Given the description of an element on the screen output the (x, y) to click on. 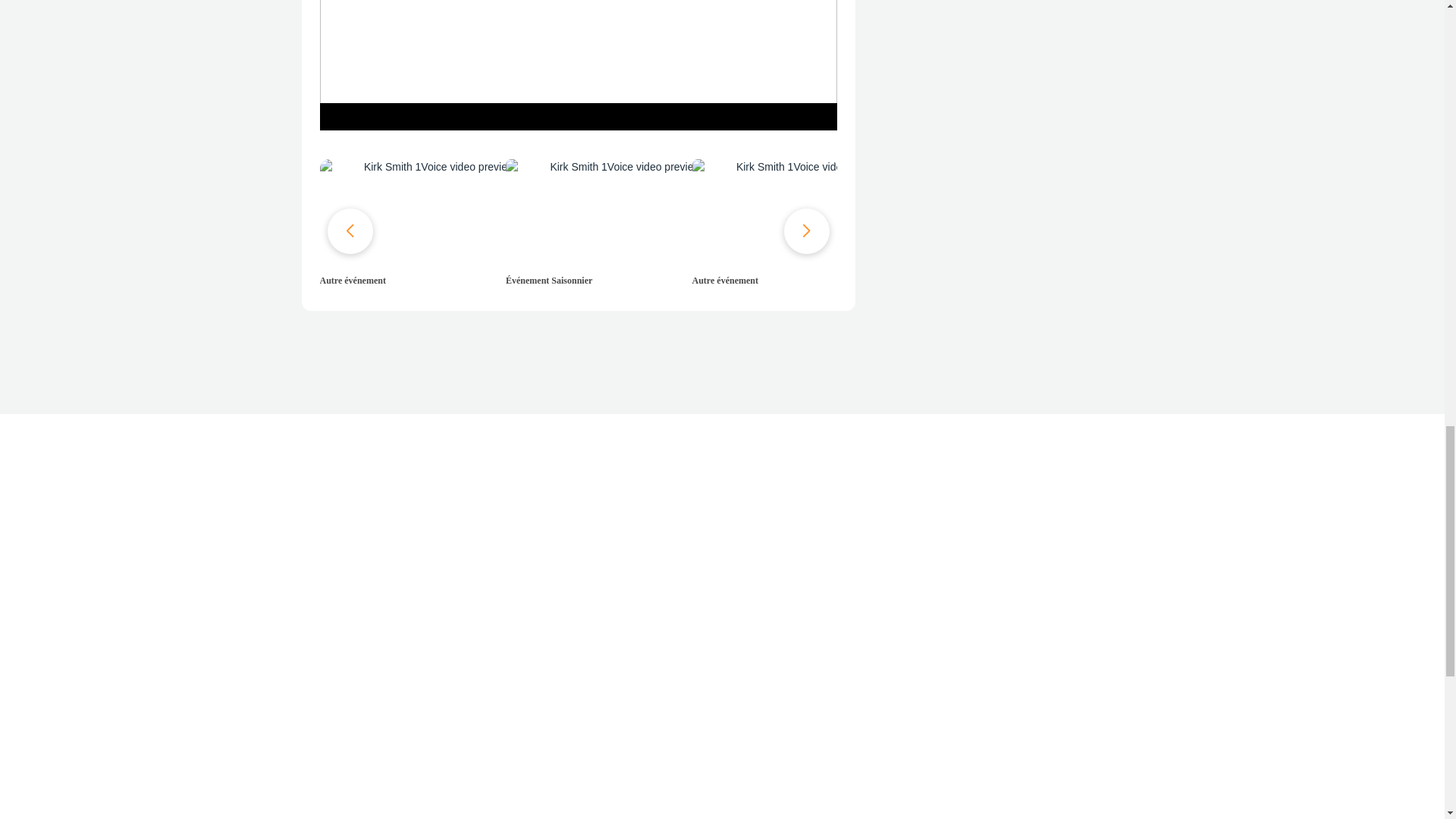
video preview (806, 212)
video preview (433, 212)
video preview (619, 212)
Kirk Smith 1Voice (578, 63)
